Given the description of an element on the screen output the (x, y) to click on. 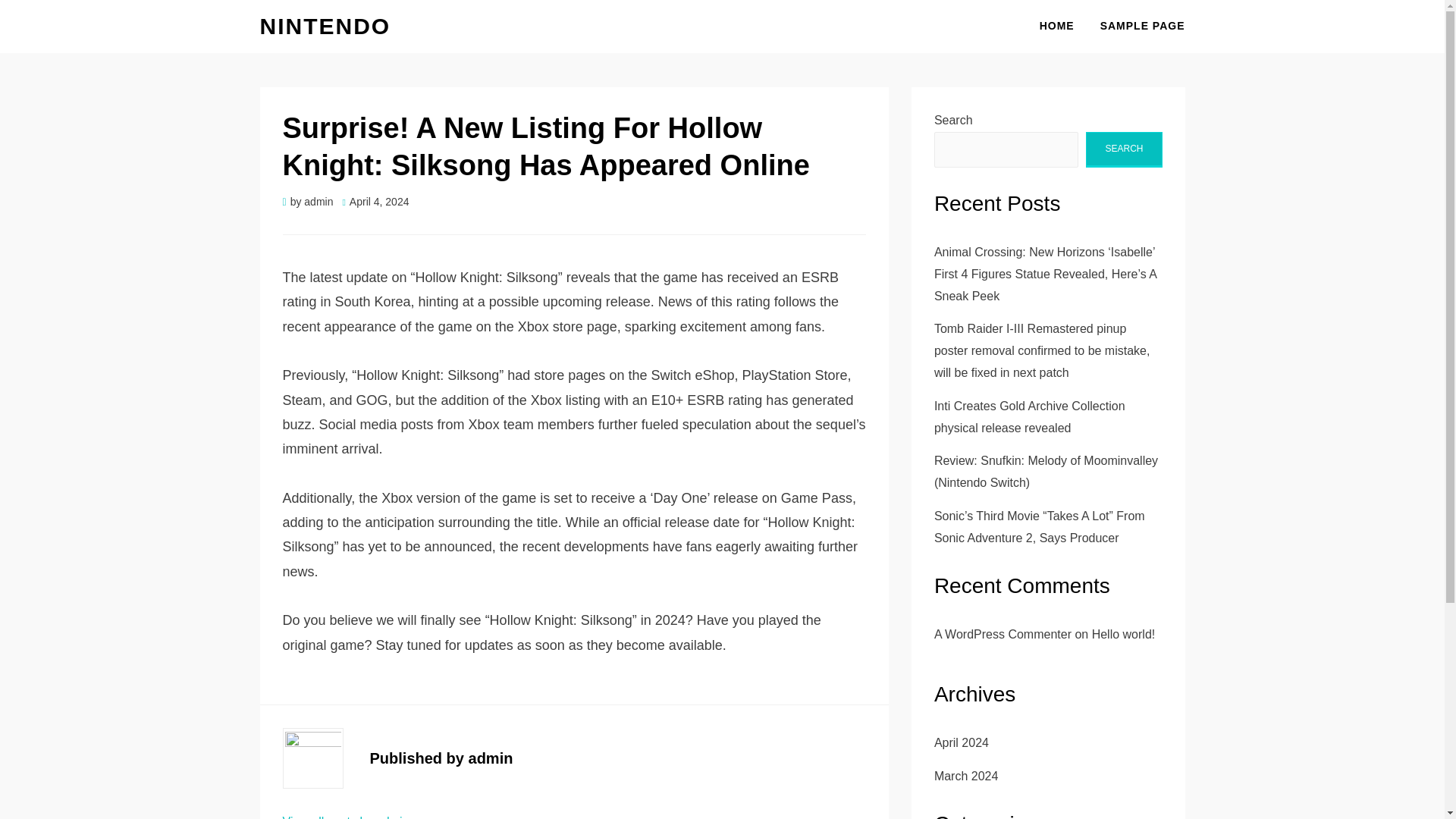
April 4, 2024 (375, 201)
SAMPLE PAGE (1136, 26)
admin (318, 201)
A WordPress Commenter (1002, 634)
NINTENDO (324, 25)
SEARCH (1123, 149)
View all posts by admin (345, 816)
March 2024 (966, 775)
HOME (1056, 26)
